Given the description of an element on the screen output the (x, y) to click on. 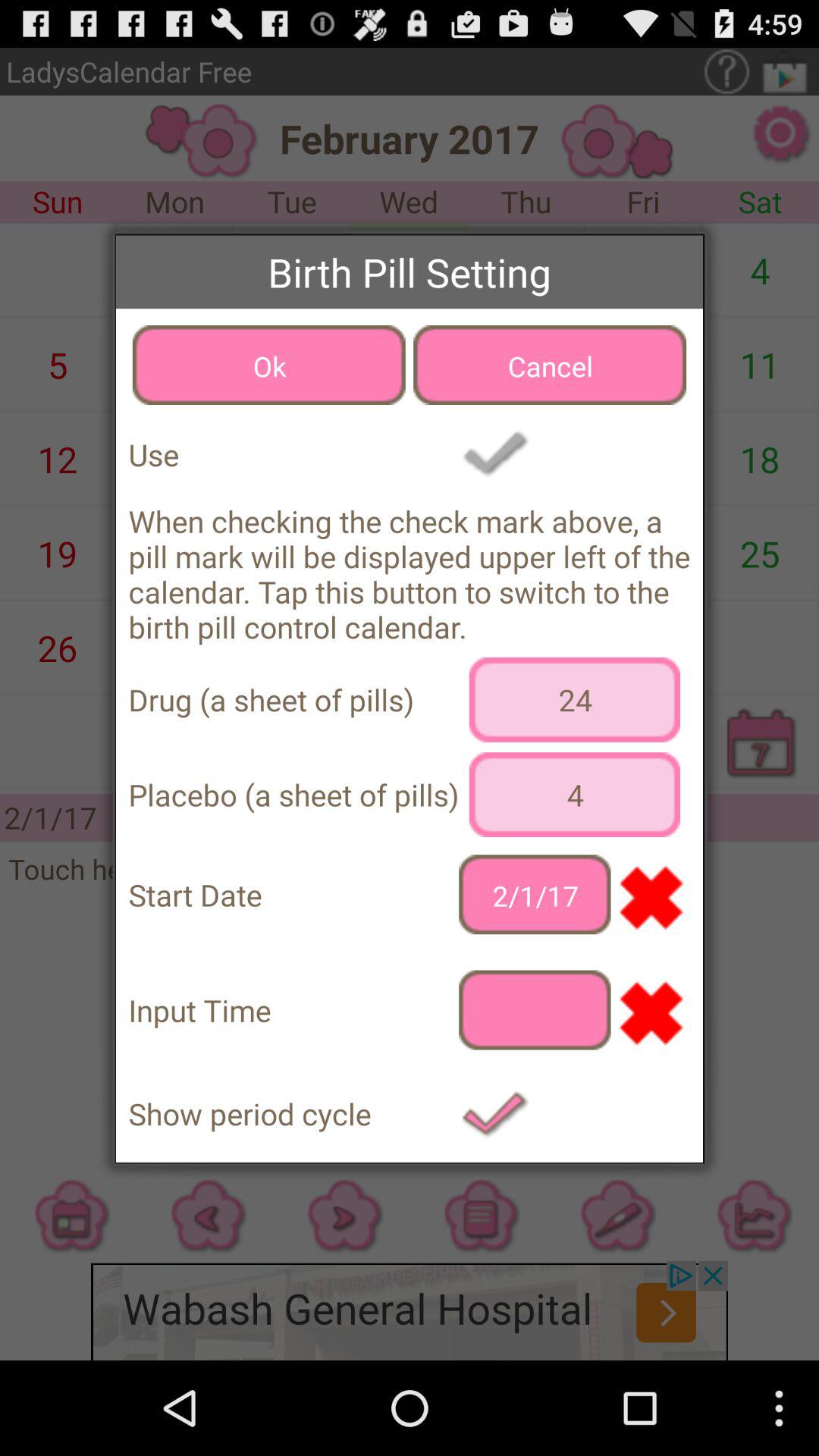
flip until the 2/1/17 (534, 894)
